Given the description of an element on the screen output the (x, y) to click on. 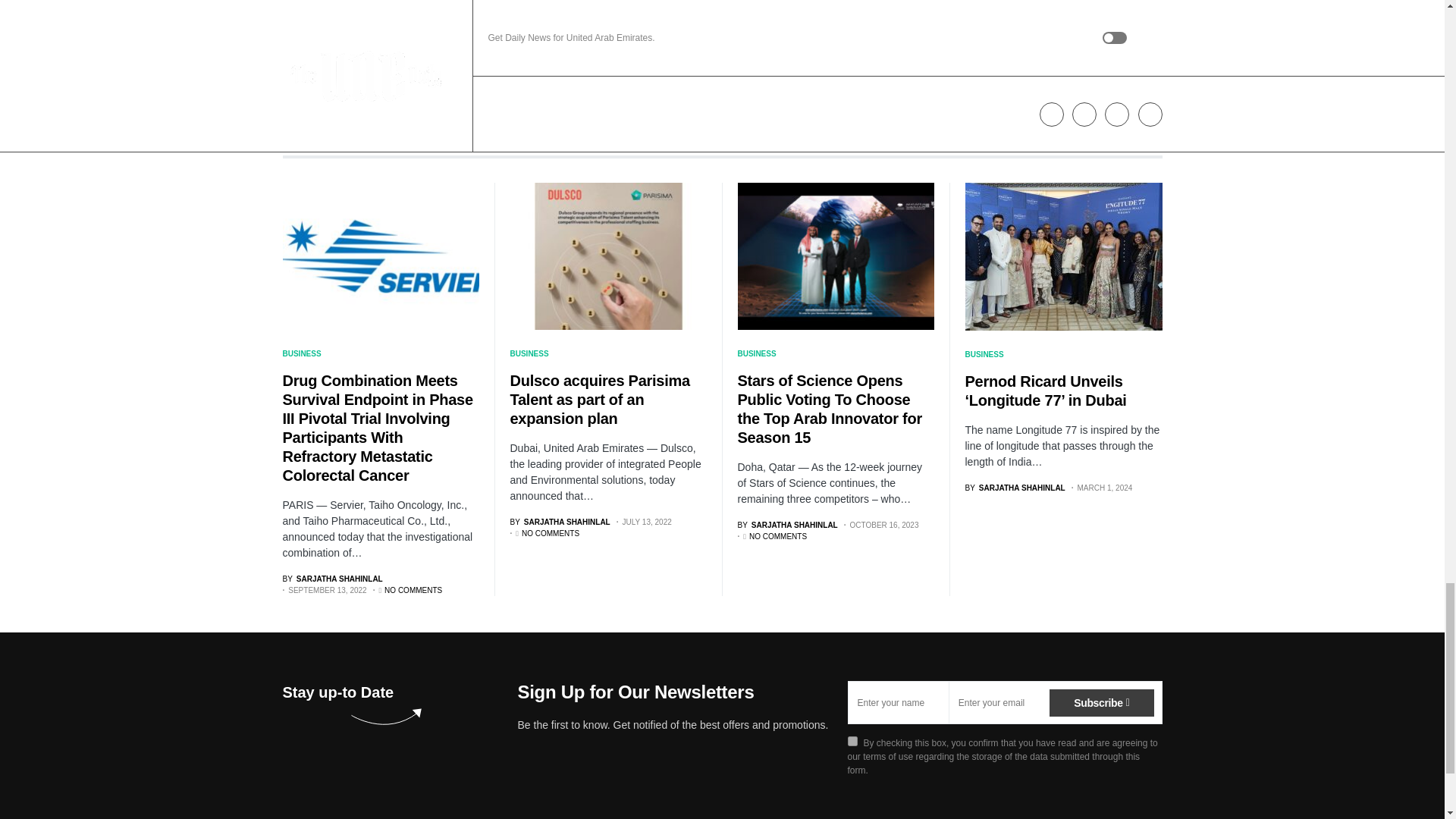
View all posts by Sarjatha Shahinlal (1013, 487)
on (852, 741)
View all posts by Sarjatha Shahinlal (559, 521)
View all posts by Sarjatha Shahinlal (786, 524)
View all posts by Sarjatha Shahinlal (331, 578)
